Given the description of an element on the screen output the (x, y) to click on. 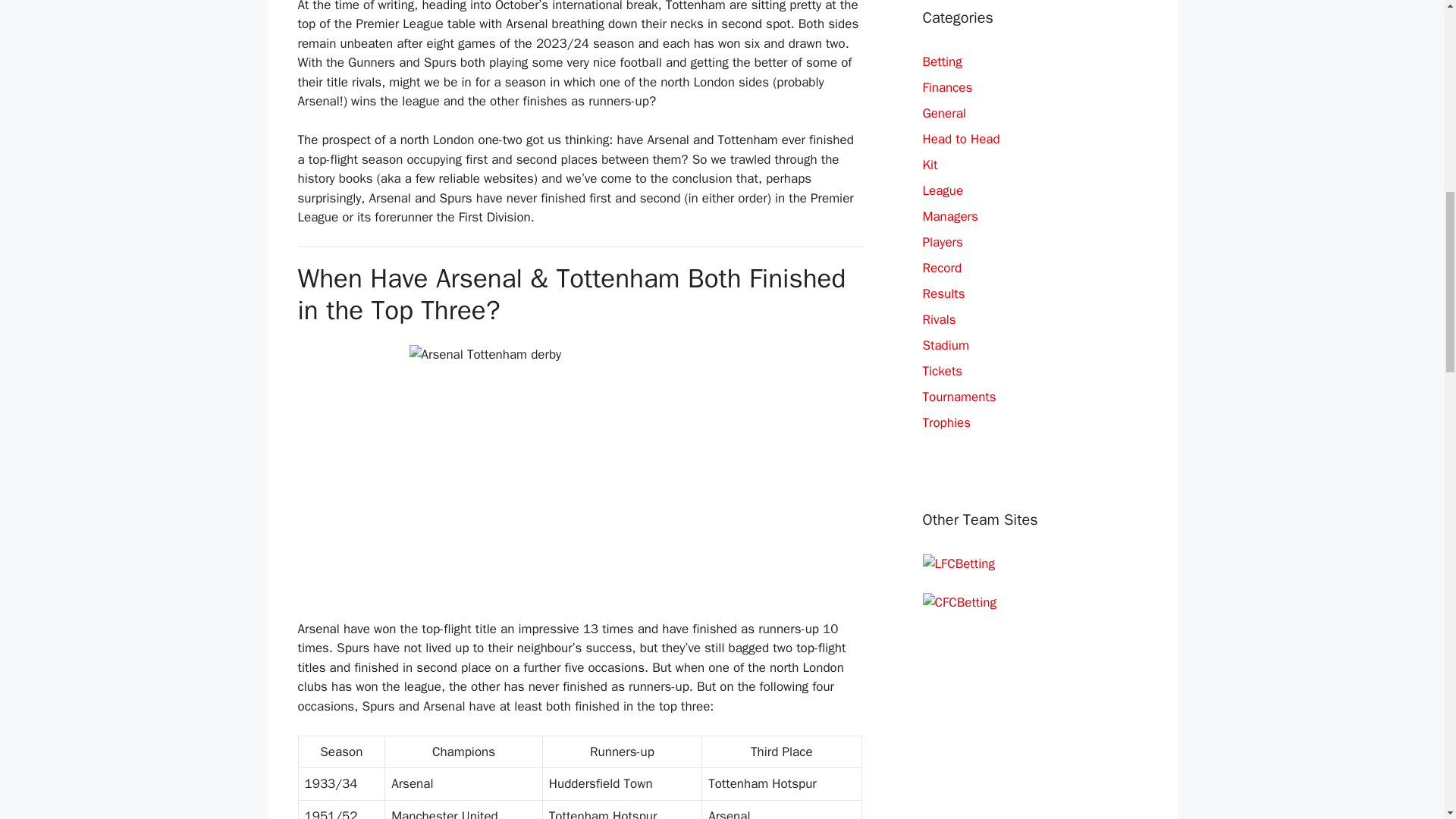
Betting (940, 61)
General (943, 113)
Head to Head (959, 139)
Kit (929, 164)
Finances (946, 87)
League (941, 190)
